Given the description of an element on the screen output the (x, y) to click on. 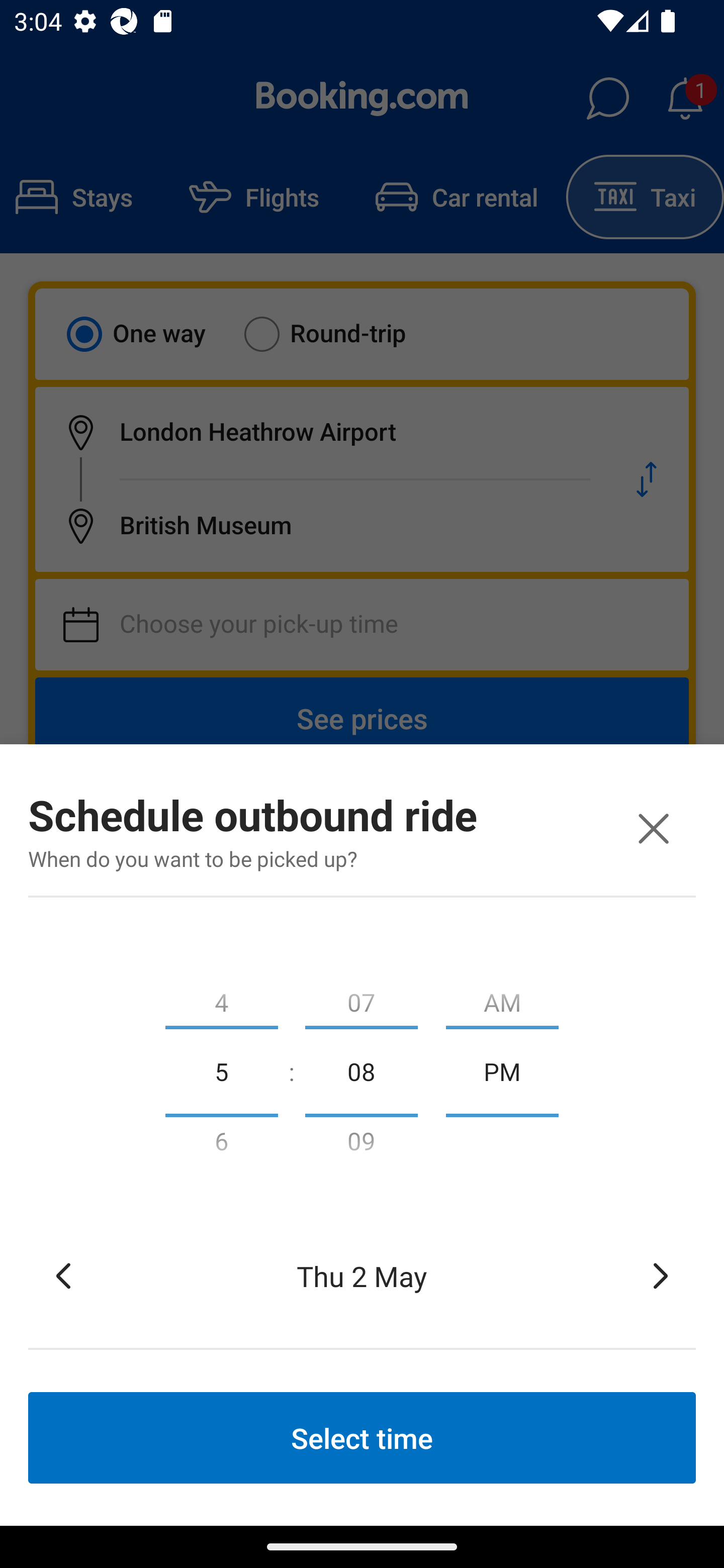
Close window (653, 828)
4 (221, 997)
07 (361, 997)
AM (501, 997)
5 (221, 1070)
08 (361, 1070)
PM (501, 1070)
6 (221, 1144)
09 (361, 1144)
Tap to move back to the previous date (63, 1275)
Tap to move forward to the next date (660, 1275)
Thu 2 May Selected date, Thursday, 2 May (361, 1275)
Select time (361, 1437)
